Given the description of an element on the screen output the (x, y) to click on. 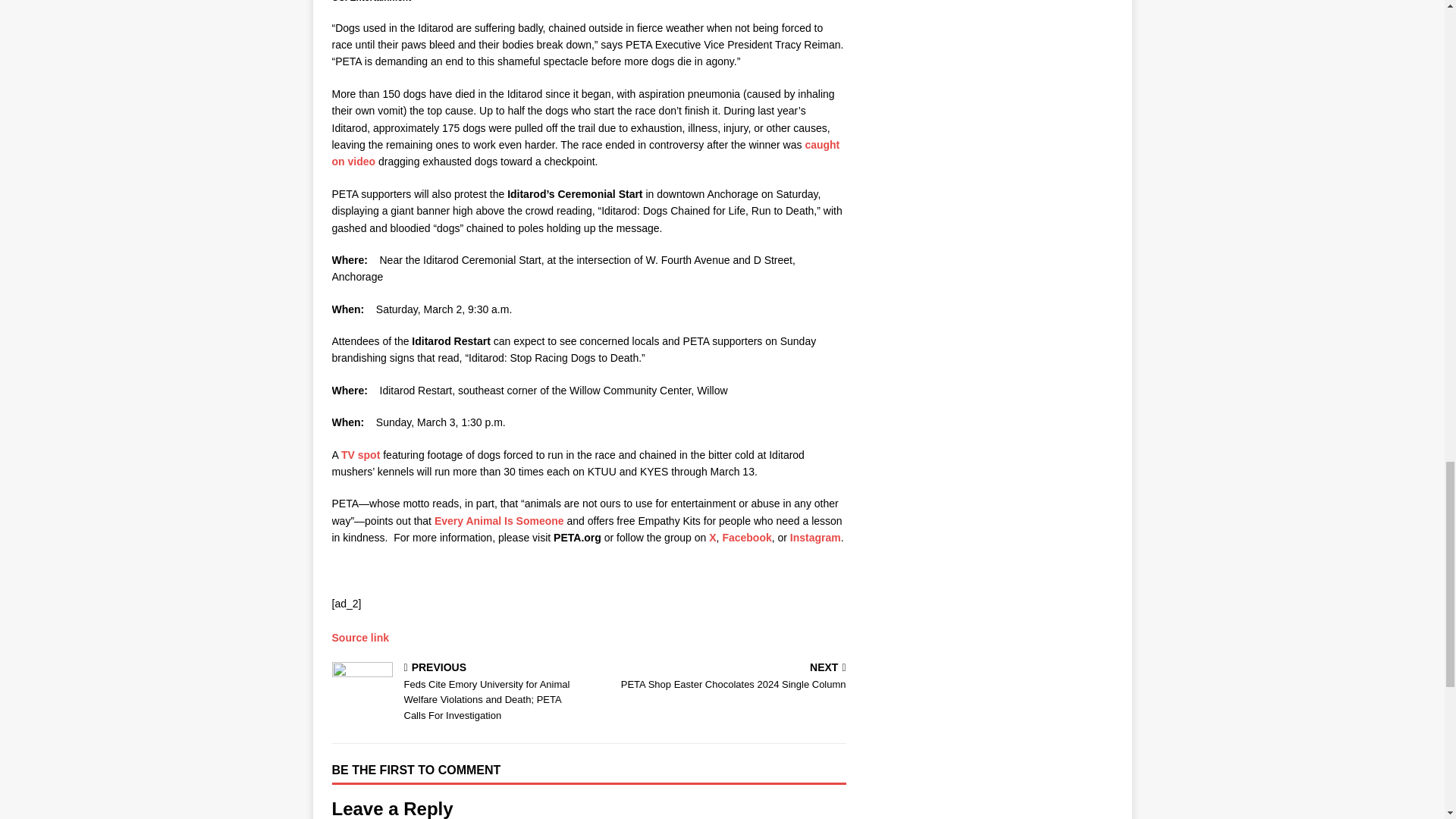
Every Animal Is Someone (498, 521)
Facebook (746, 537)
caught on video (720, 676)
TV spot (585, 152)
Source link (360, 454)
Instagram (359, 637)
